Given the description of an element on the screen output the (x, y) to click on. 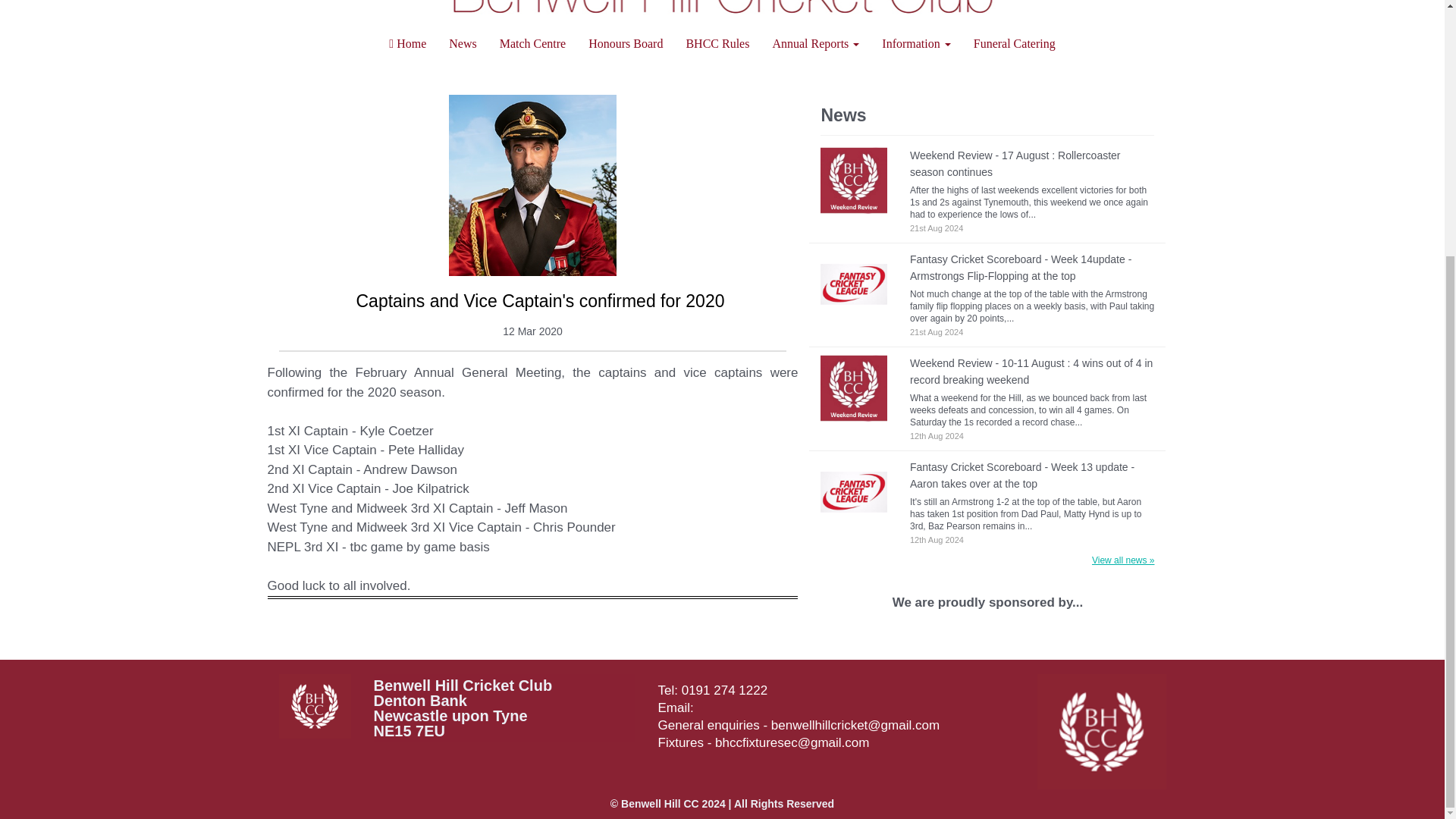
News (462, 43)
Funeral Catering (1014, 43)
BHCC Rules (717, 43)
Annual Reports (815, 43)
Honours Board (625, 43)
Home (407, 43)
Match Centre (532, 43)
Information (915, 43)
